Given the description of an element on the screen output the (x, y) to click on. 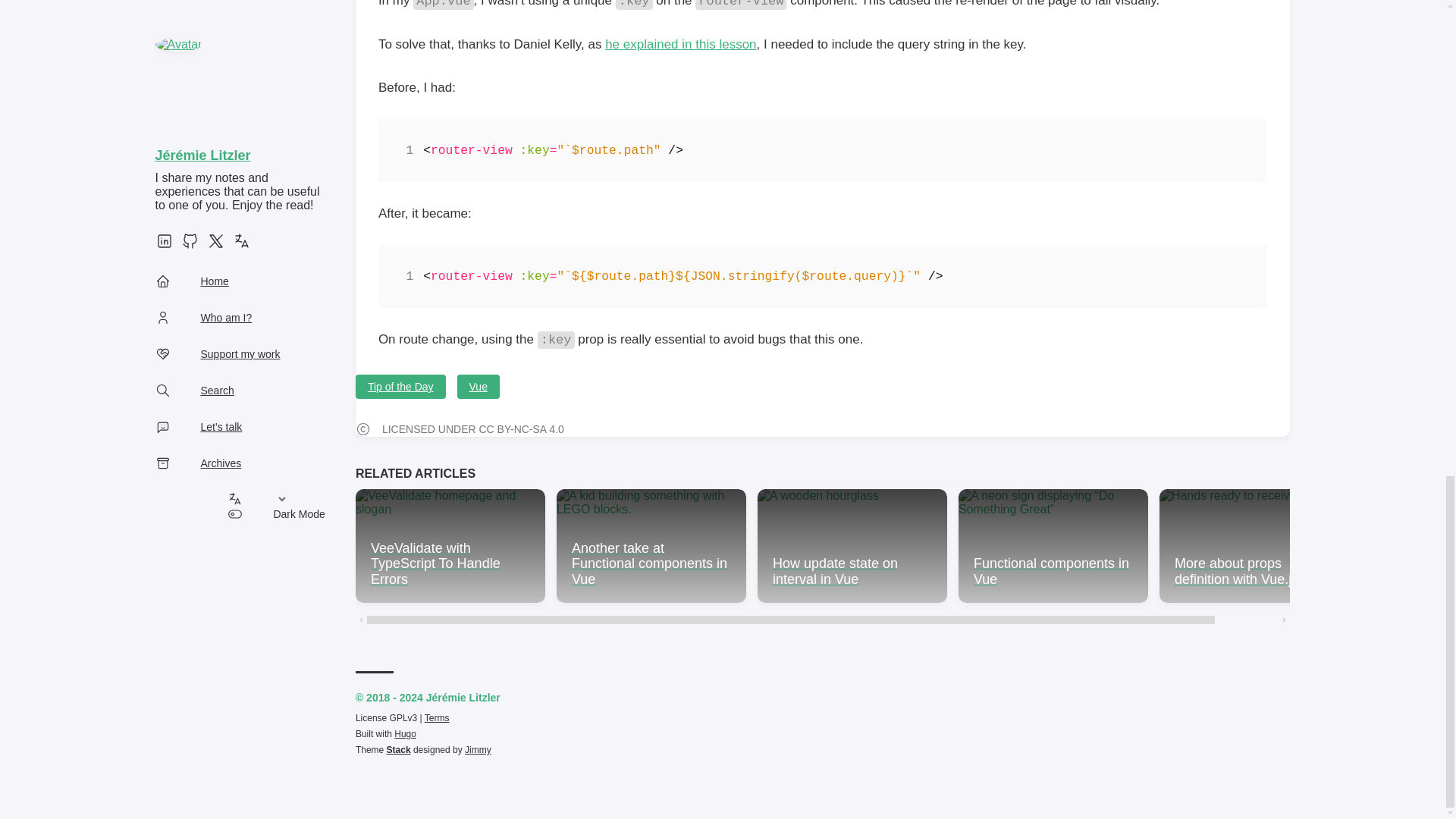
More about props definition with Vue.js (1253, 545)
he explained in this lesson (680, 43)
Terms (437, 717)
Stack (398, 749)
Vue (478, 386)
Tip of the Day (400, 386)
Hugo (405, 733)
Jimmy (478, 749)
How update state on interval in Vue (852, 545)
VeeValidate with TypeScript To Handle Errors (449, 545)
